Given the description of an element on the screen output the (x, y) to click on. 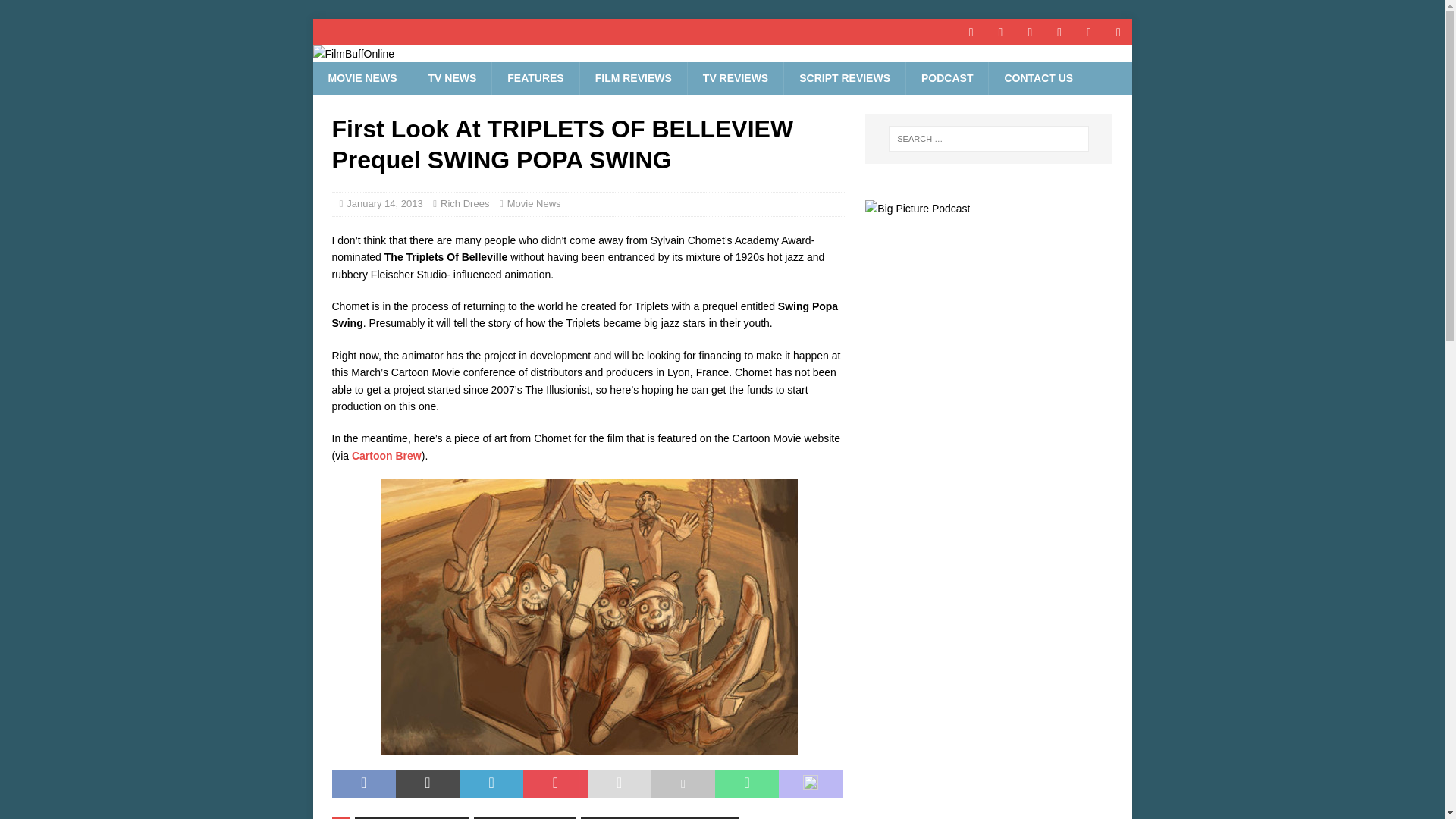
Send this article to a friend (619, 783)
FilmBuffOnline (353, 53)
Contact Us (1037, 78)
Follow us on YouTube (1029, 31)
PODCAST (946, 78)
Follow us on Twitter (1000, 31)
Share on Whatsapp (746, 783)
MOVIE NEWS (362, 78)
SYLVAIN CHOMET (525, 817)
Cartoon Brew (387, 455)
